Given the description of an element on the screen output the (x, y) to click on. 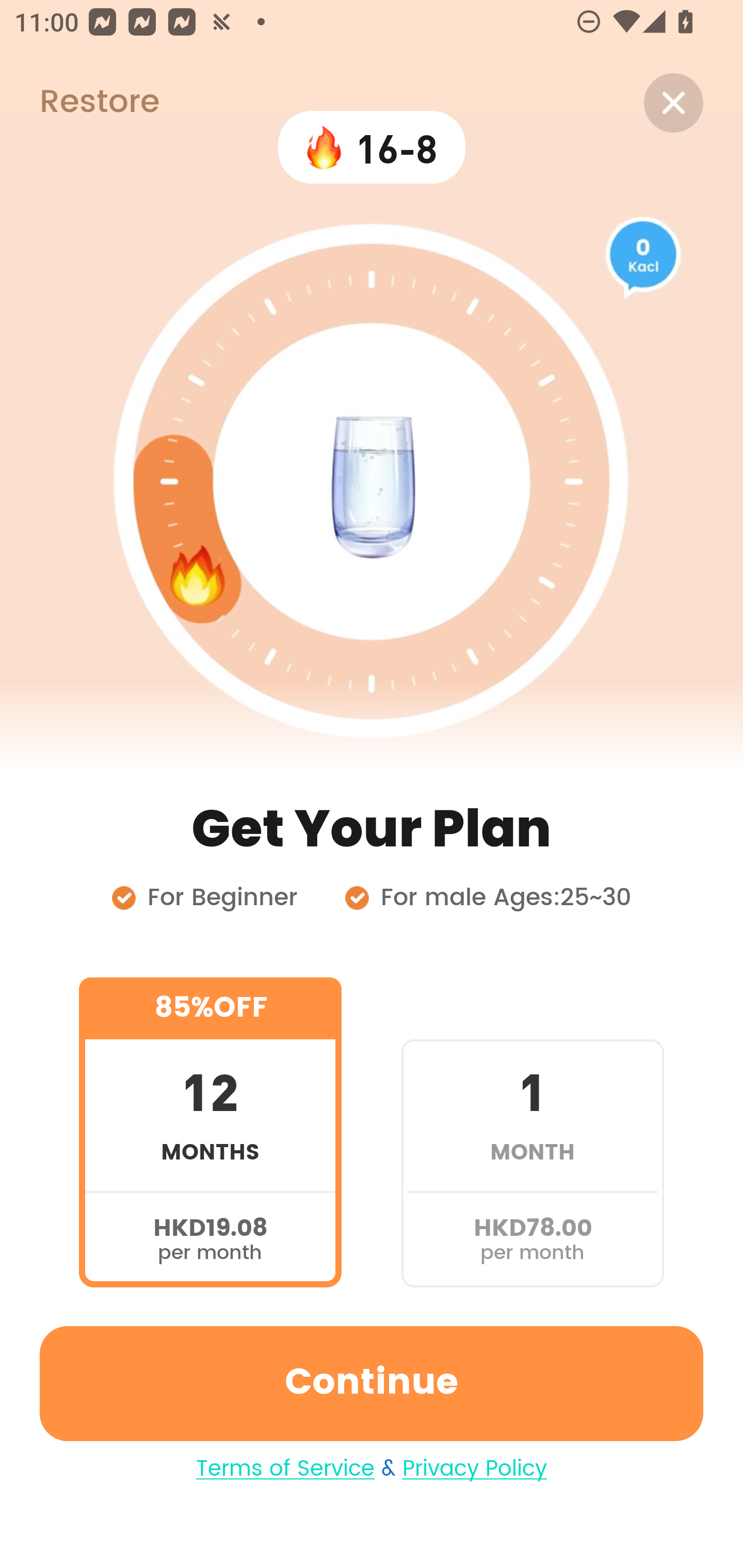
Restore (79, 102)
85%OFF 12 MONTHS per month HKD19.08 (209, 1131)
1 MONTH per month HKD78.00 (532, 1131)
Continue (371, 1383)
